Given the description of an element on the screen output the (x, y) to click on. 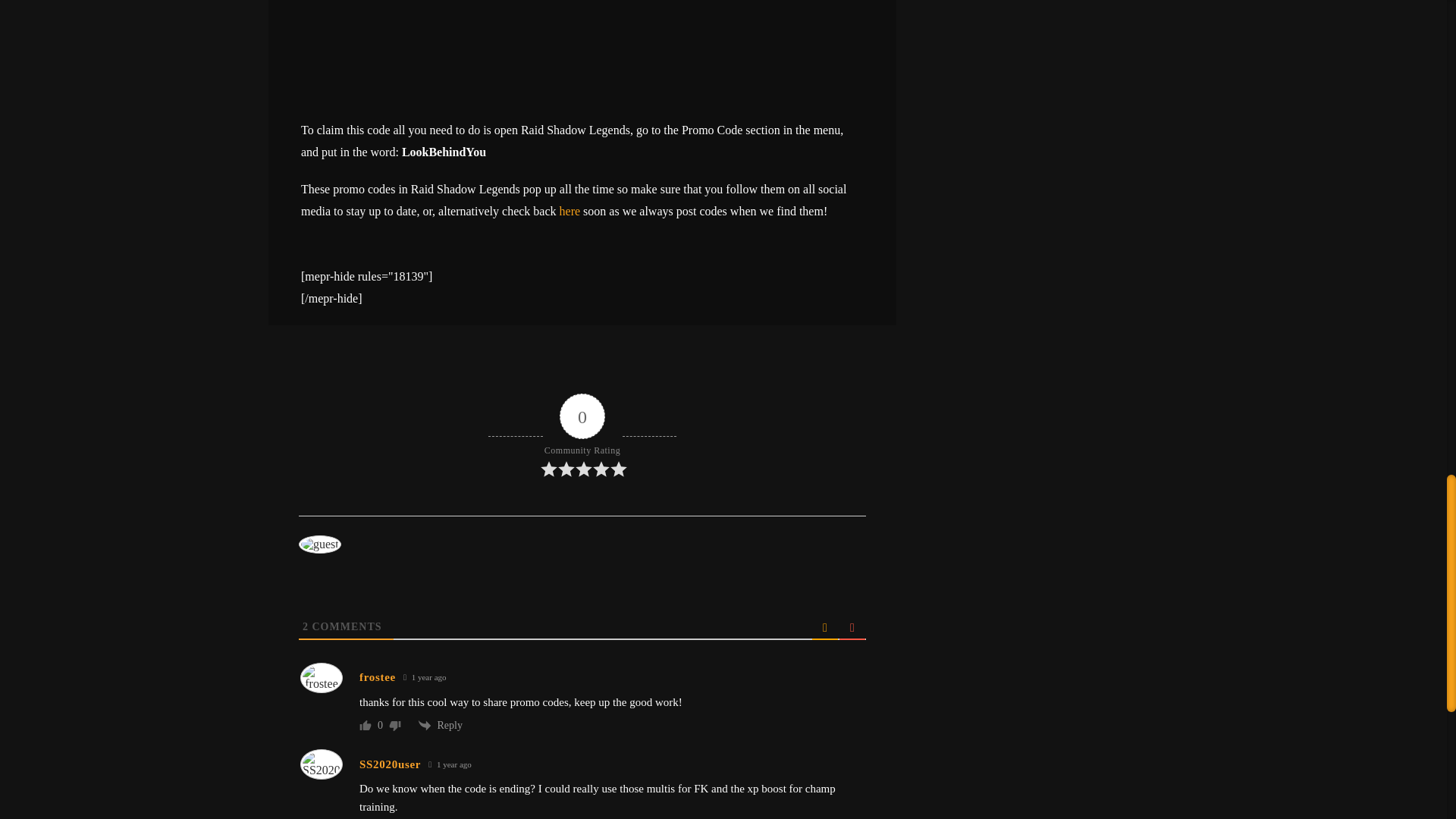
promo-code (582, 52)
